Given the description of an element on the screen output the (x, y) to click on. 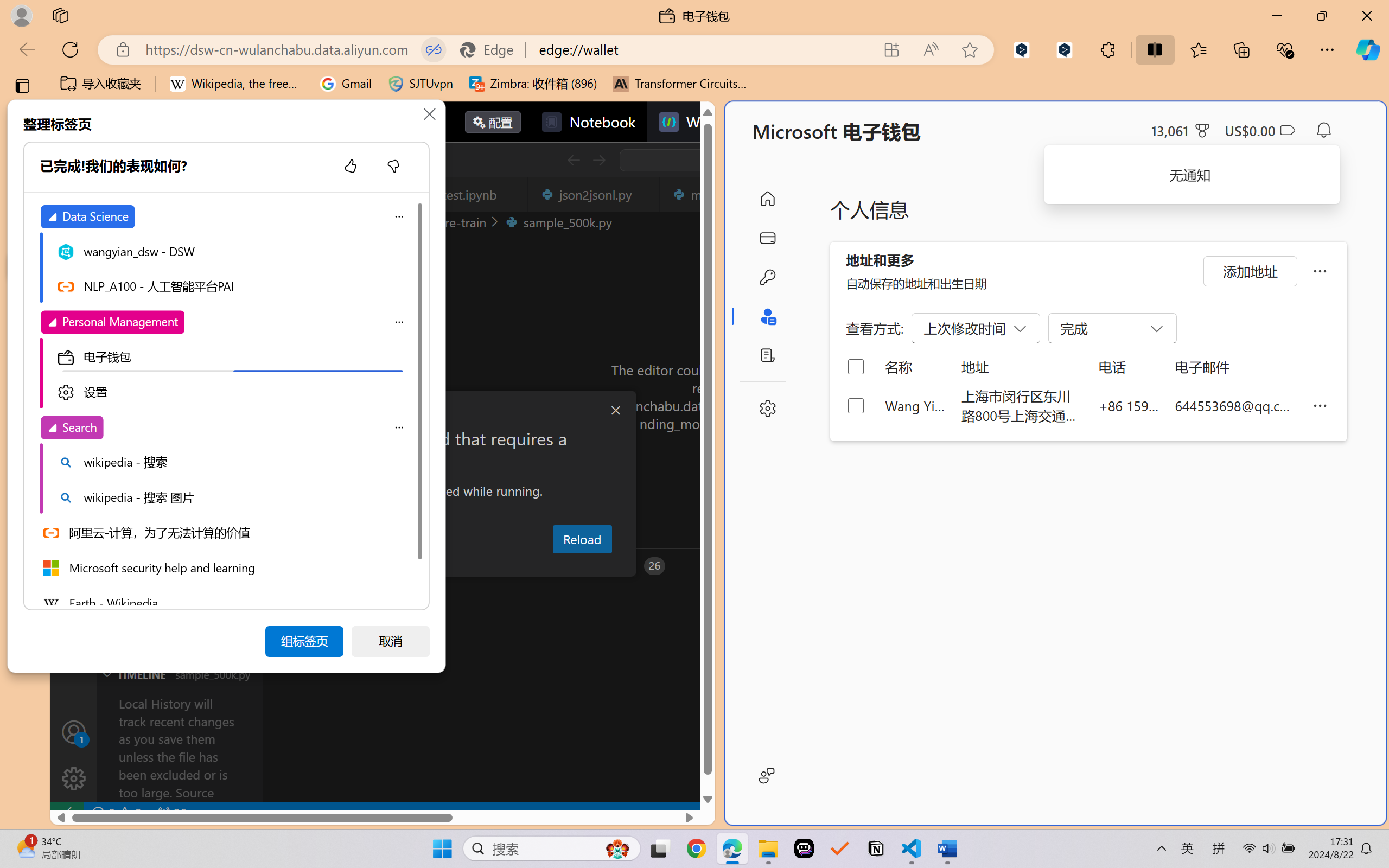
Notebook (588, 121)
Terminal (Ctrl+`) (553, 565)
